Given the description of an element on the screen output the (x, y) to click on. 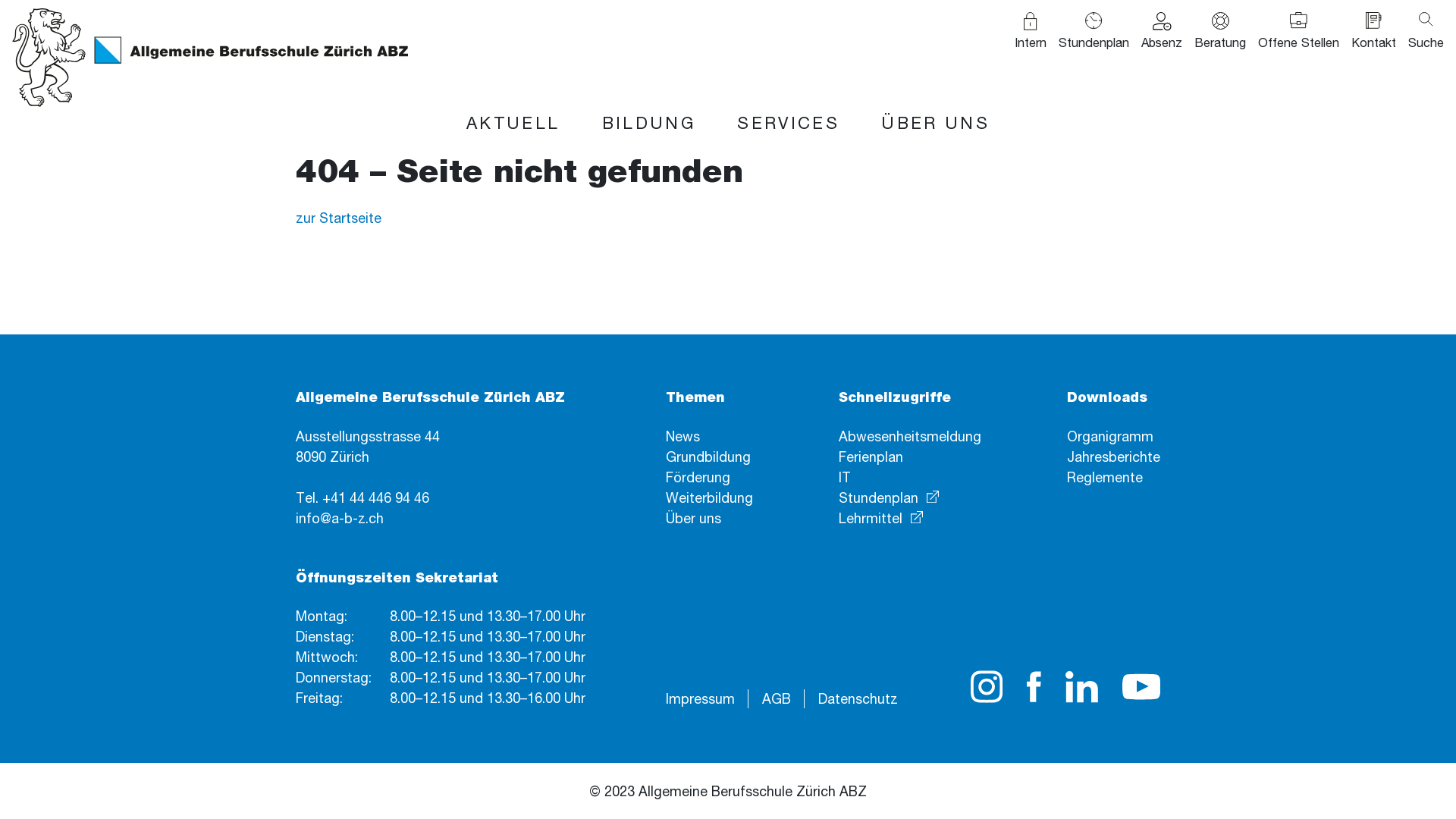
Weiterbildung Element type: text (709, 497)
Kontakt Element type: text (1373, 31)
Datenschutz Element type: text (857, 698)
News Element type: text (682, 435)
Organigramm Element type: text (1109, 435)
Reglemente Element type: text (1104, 476)
Impressum Element type: text (699, 698)
Tel. +41 44 446 94 46 Element type: text (362, 497)
Grundbildung Element type: text (707, 456)
BILDUNG Element type: text (648, 122)
Beratung Element type: text (1220, 31)
Lehrmittel Element type: text (880, 517)
info@a-b-z.ch Element type: text (339, 517)
Stundenplan Element type: text (888, 497)
IT Element type: text (844, 476)
AKTUELL Element type: text (513, 122)
Suche Element type: text (1425, 31)
Stundenplan Element type: text (1093, 31)
SERVICES Element type: text (788, 122)
Intern Element type: text (1030, 31)
Ferienplan Element type: text (870, 456)
Jahresberichte Element type: text (1113, 456)
Abwesenheitsmeldung Element type: text (909, 435)
zur Startseite Element type: text (338, 217)
AGB Element type: text (776, 698)
Offene Stellen Element type: text (1298, 31)
